Given the description of an element on the screen output the (x, y) to click on. 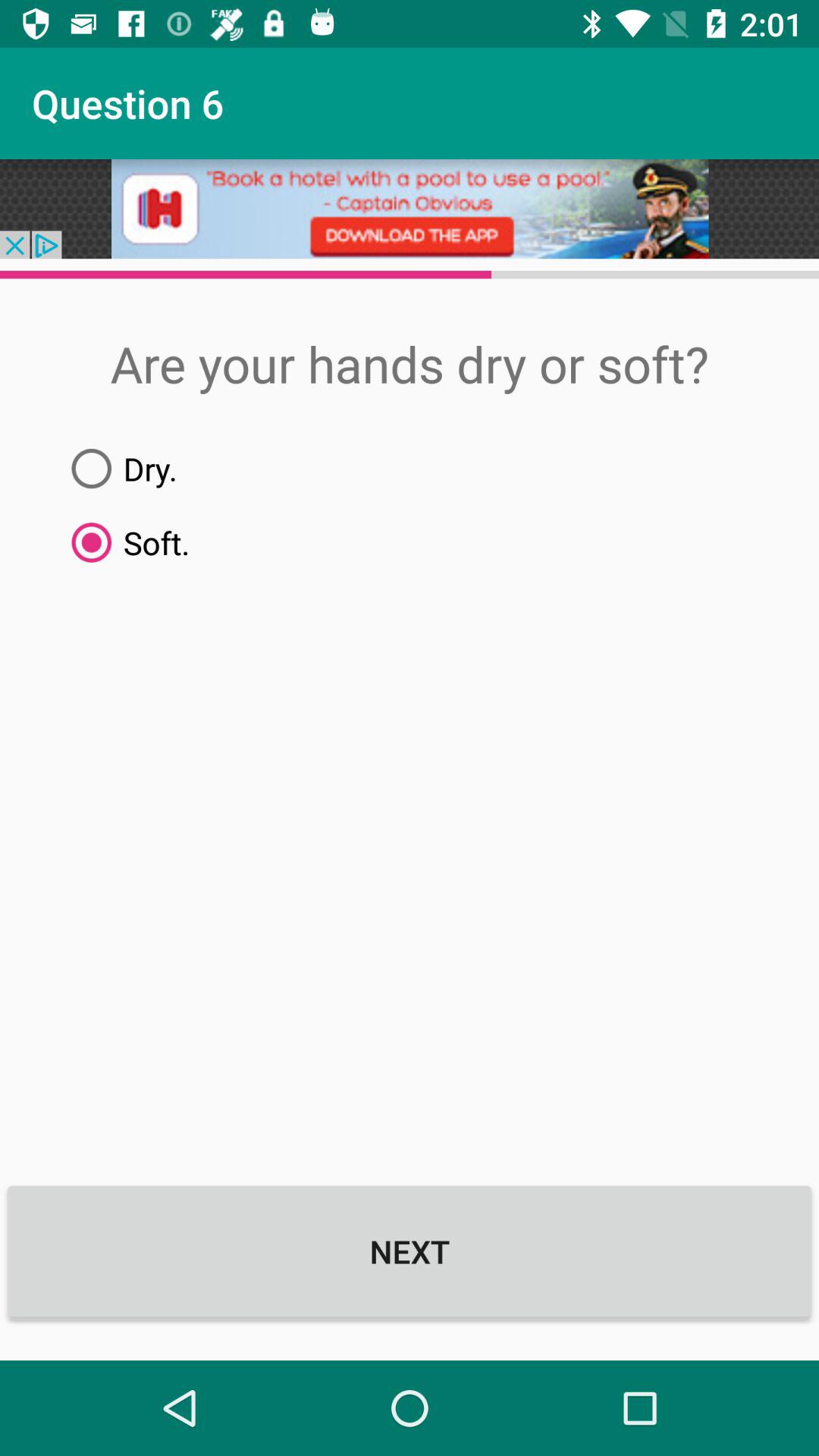
add icon (409, 208)
